Given the description of an element on the screen output the (x, y) to click on. 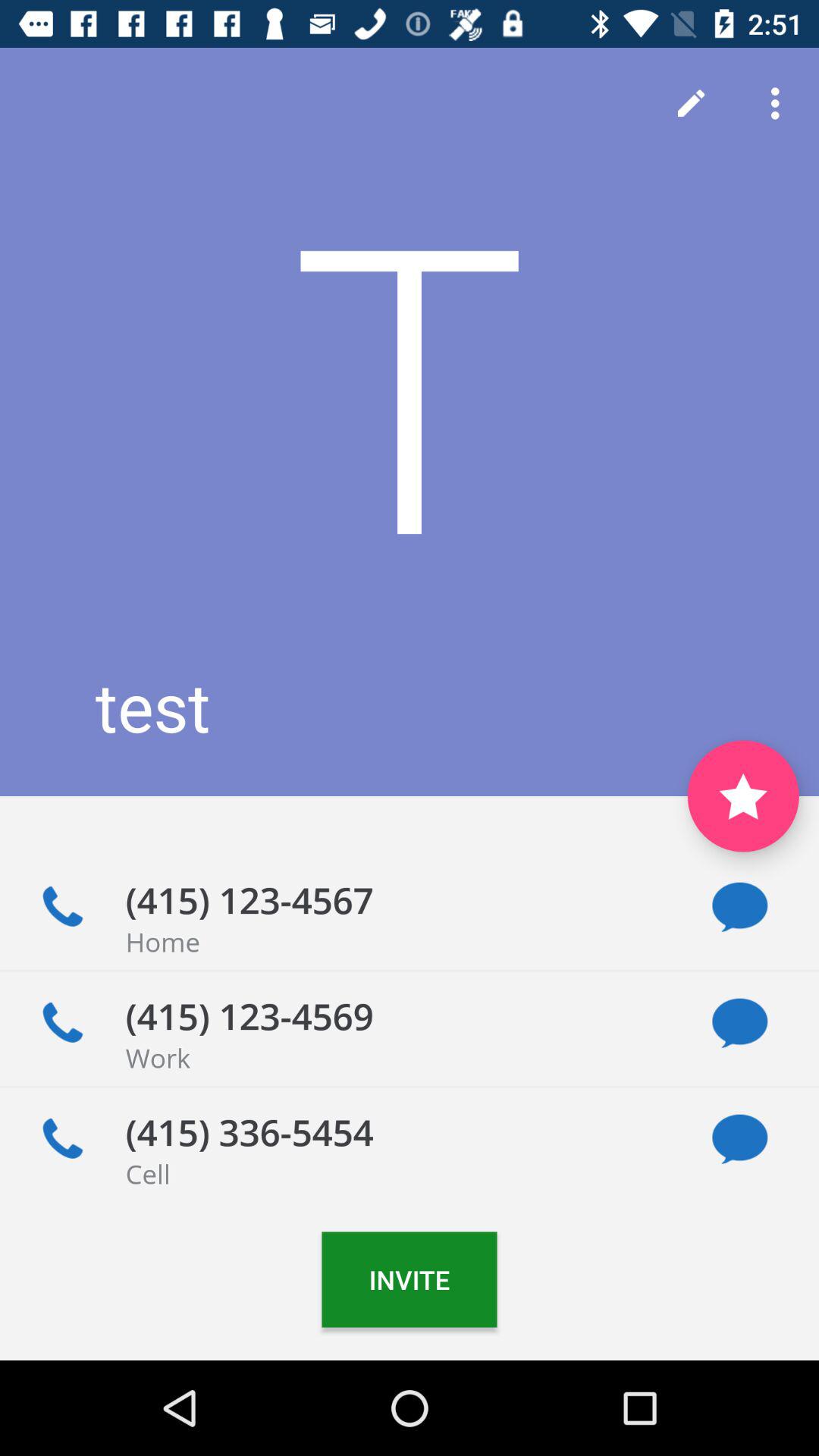
to favorite contact (743, 795)
